Given the description of an element on the screen output the (x, y) to click on. 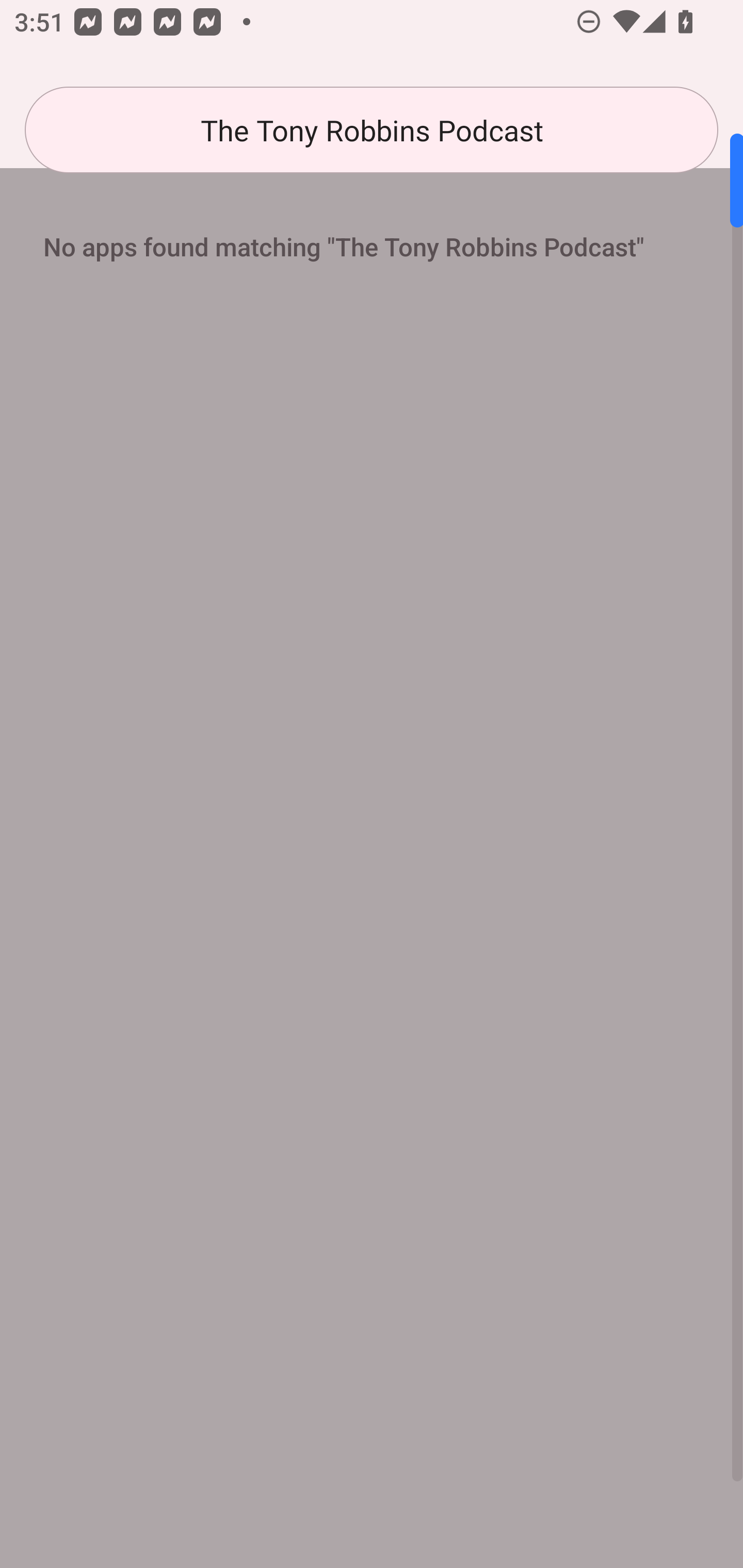
The Tony Robbins Podcast (371, 130)
